Given the description of an element on the screen output the (x, y) to click on. 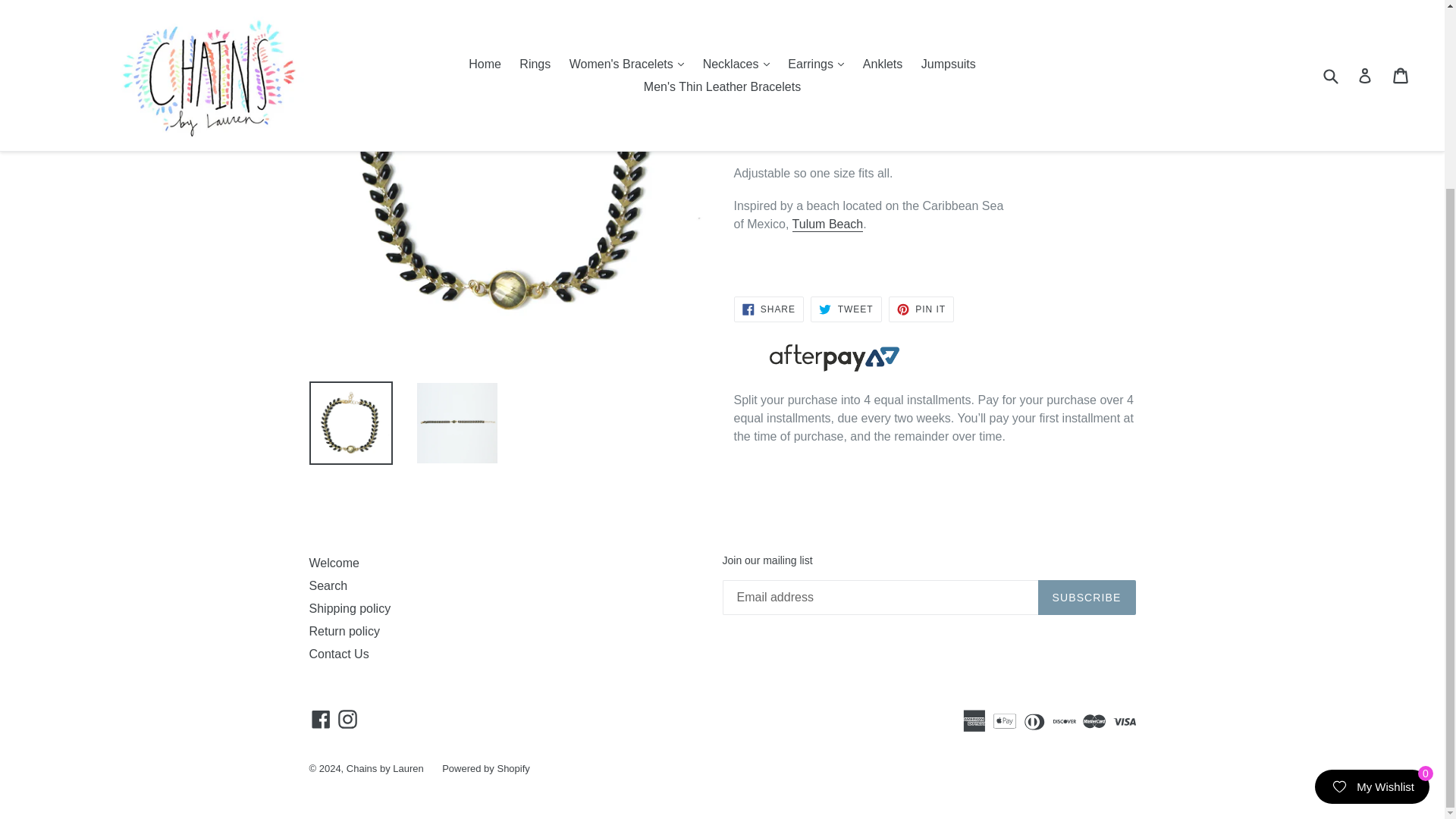
Pin on Pinterest (920, 309)
Chains by Lauren on Instagram (347, 719)
Tweet on Twitter (845, 309)
Share on Facebook (768, 309)
Chains by Lauren on Facebook (320, 719)
